Given the description of an element on the screen output the (x, y) to click on. 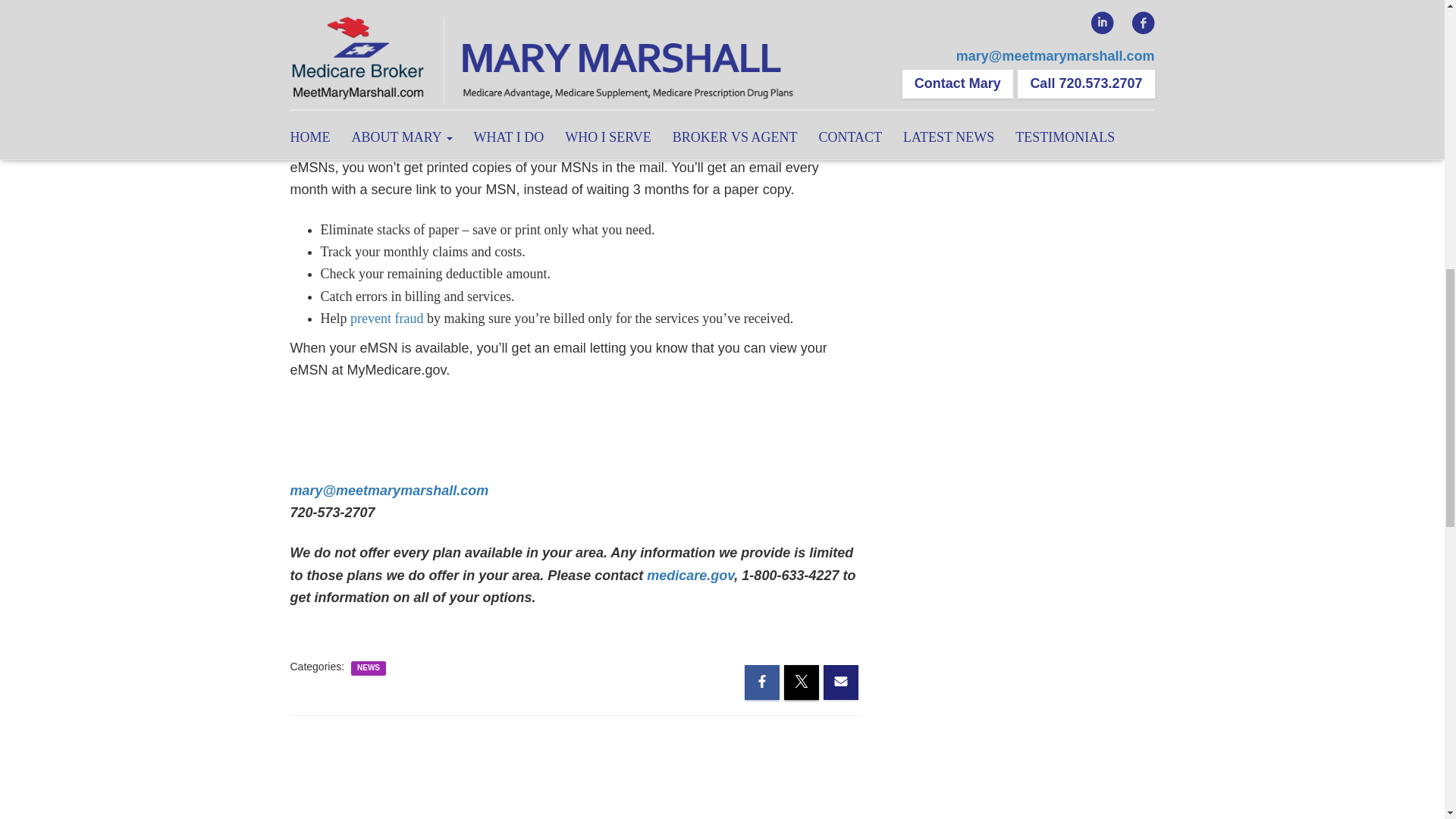
prevent fraud (386, 318)
medicare.gov (689, 575)
NEWS (368, 667)
